Given the description of an element on the screen output the (x, y) to click on. 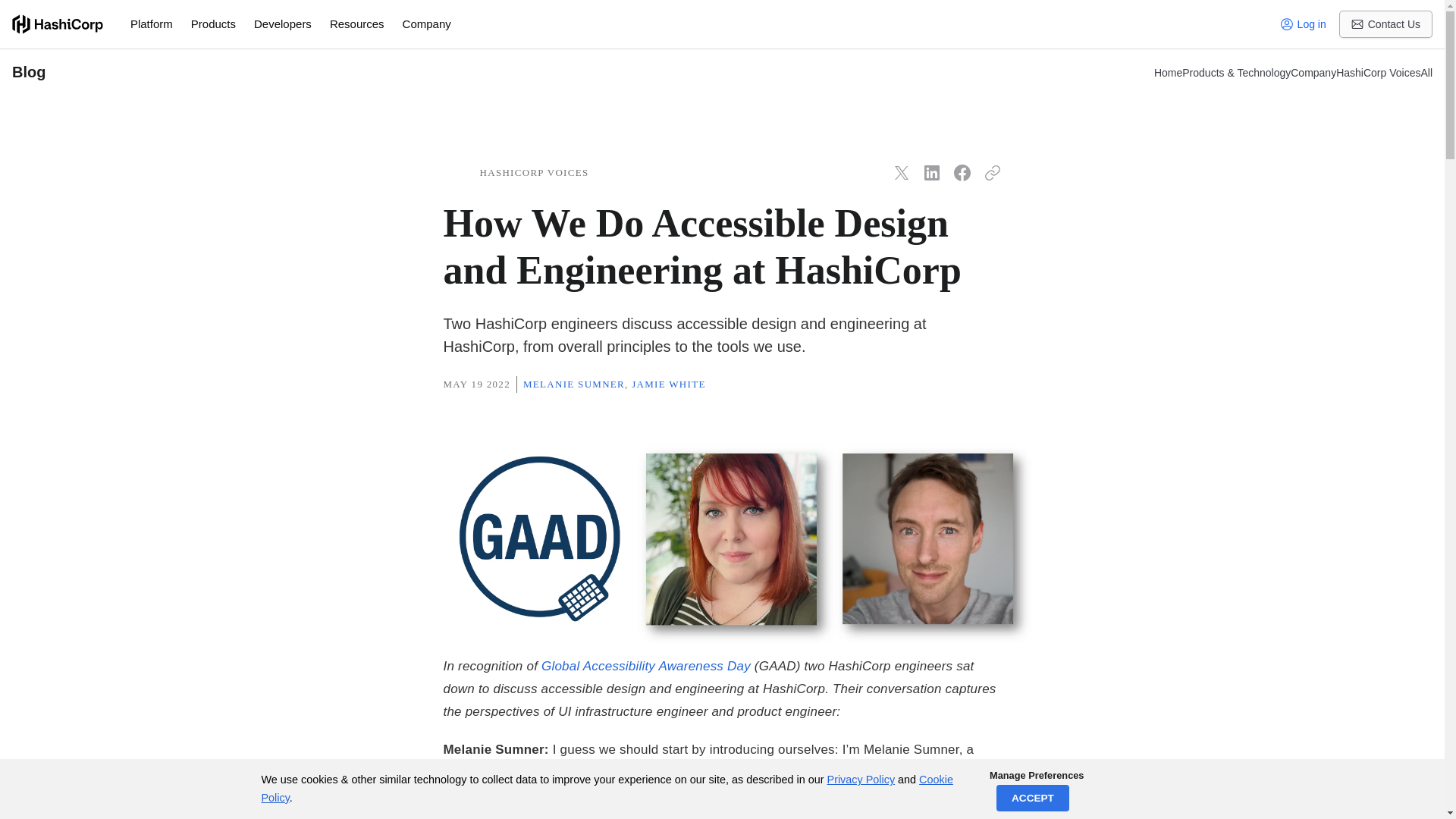
Platform (151, 24)
Resources (356, 24)
Products (213, 24)
HashiCorp (57, 23)
Blog (570, 72)
Developers (282, 24)
